Given the description of an element on the screen output the (x, y) to click on. 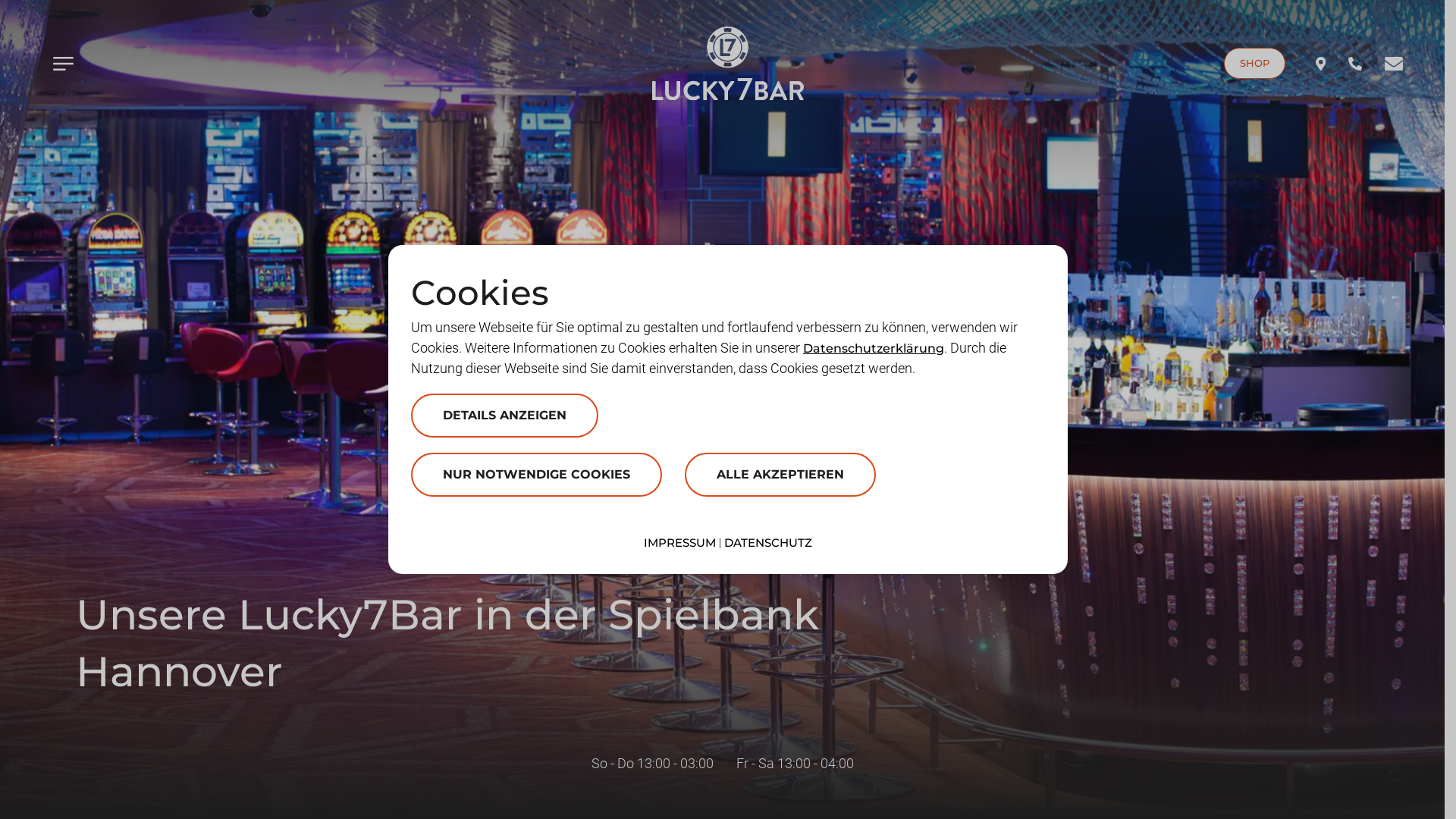
ALLE AKZEPTIEREN Element type: text (779, 481)
NUR NOTWENDIGE COOKIES Element type: text (536, 474)
NUR NOTWENDIGE COOKIES Element type: text (536, 481)
ALLE AKZEPTIEREN Element type: text (779, 474)
DATENSCHUTZ Element type: text (768, 543)
SHOP Element type: text (1254, 63)
IMPRESSUM Element type: text (679, 543)
DETAILS ANZEIGEN Element type: text (504, 415)
